Given the description of an element on the screen output the (x, y) to click on. 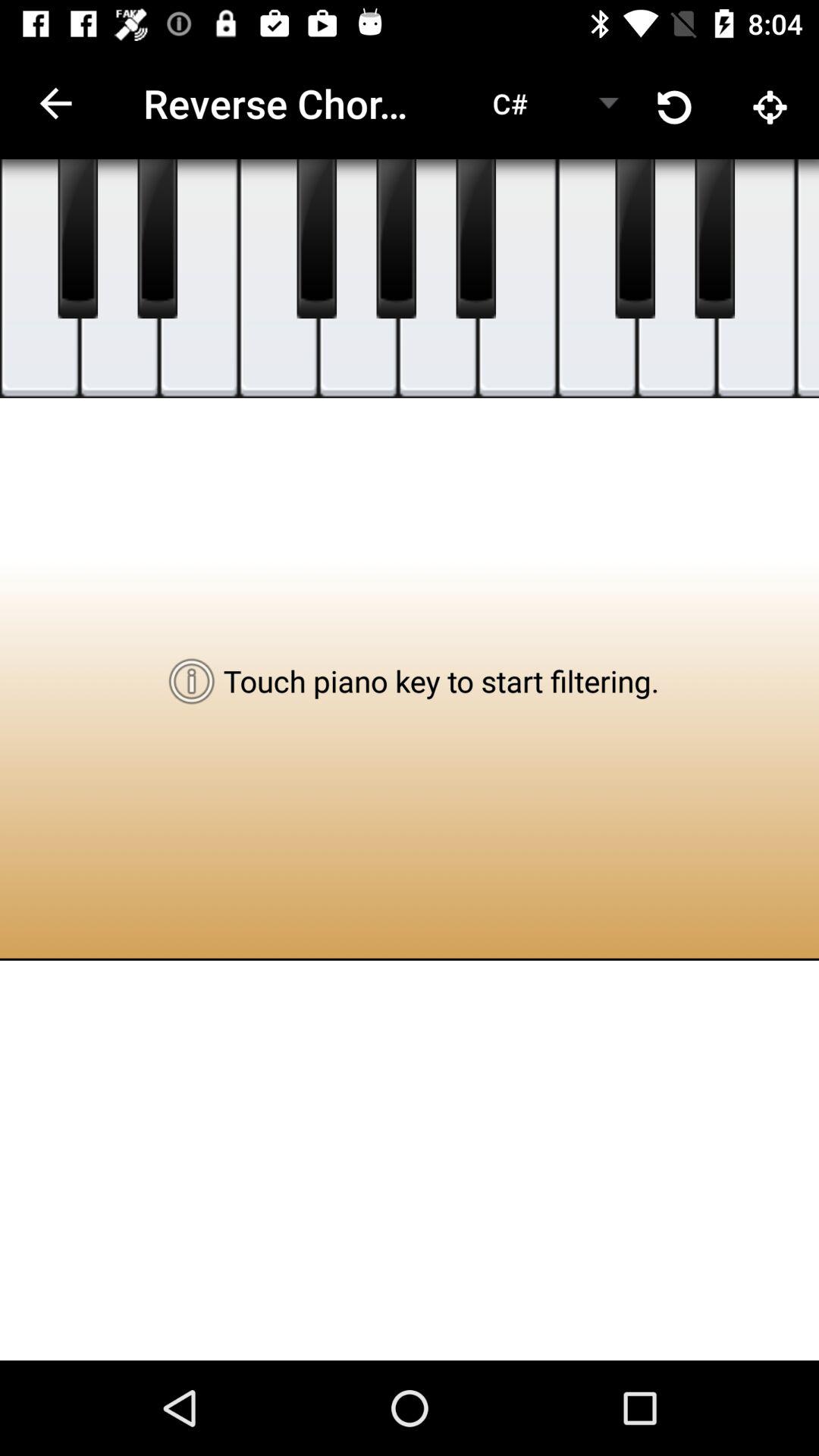
select the key (396, 238)
